Given the description of an element on the screen output the (x, y) to click on. 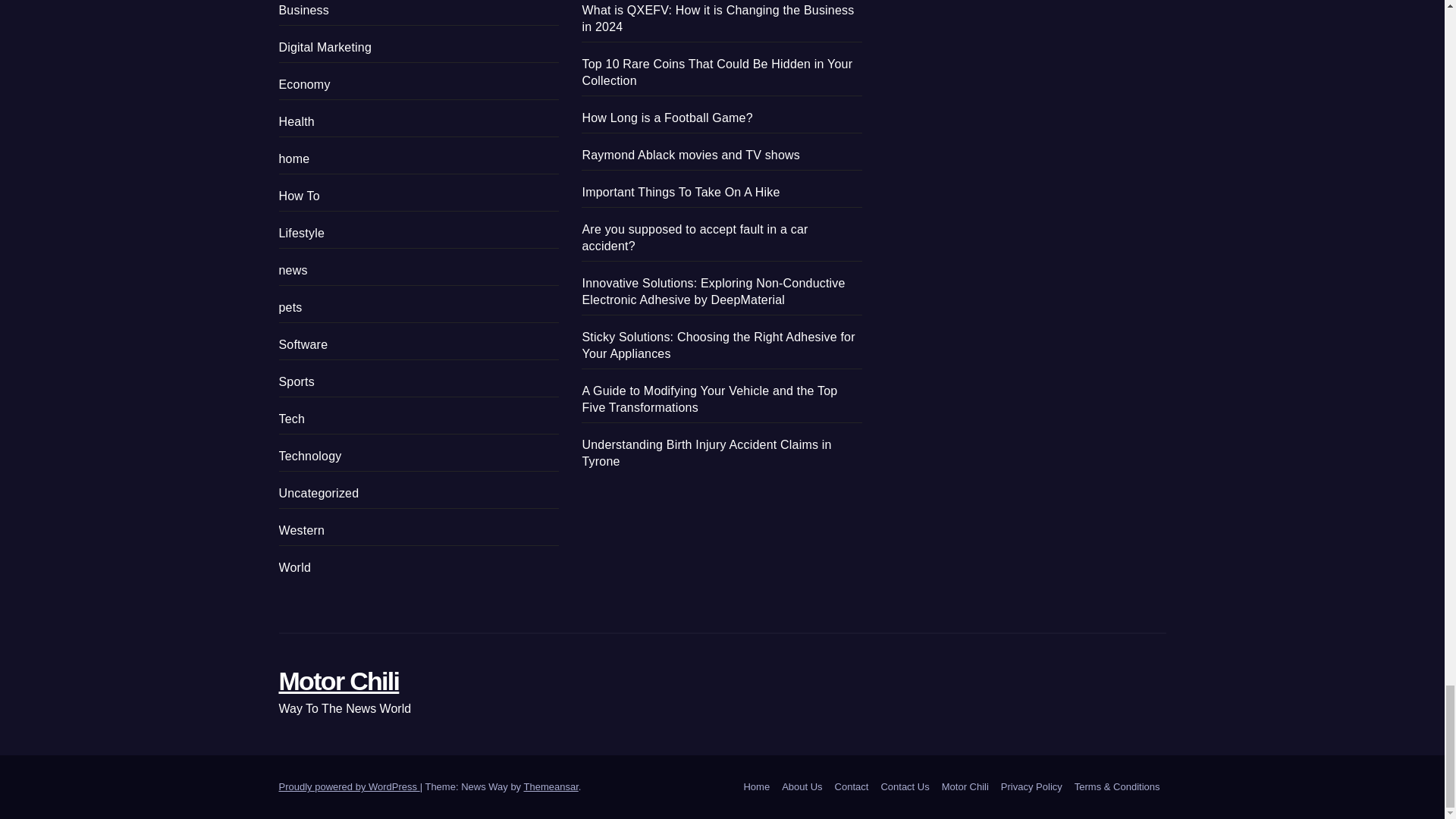
Home (756, 786)
